Given the description of an element on the screen output the (x, y) to click on. 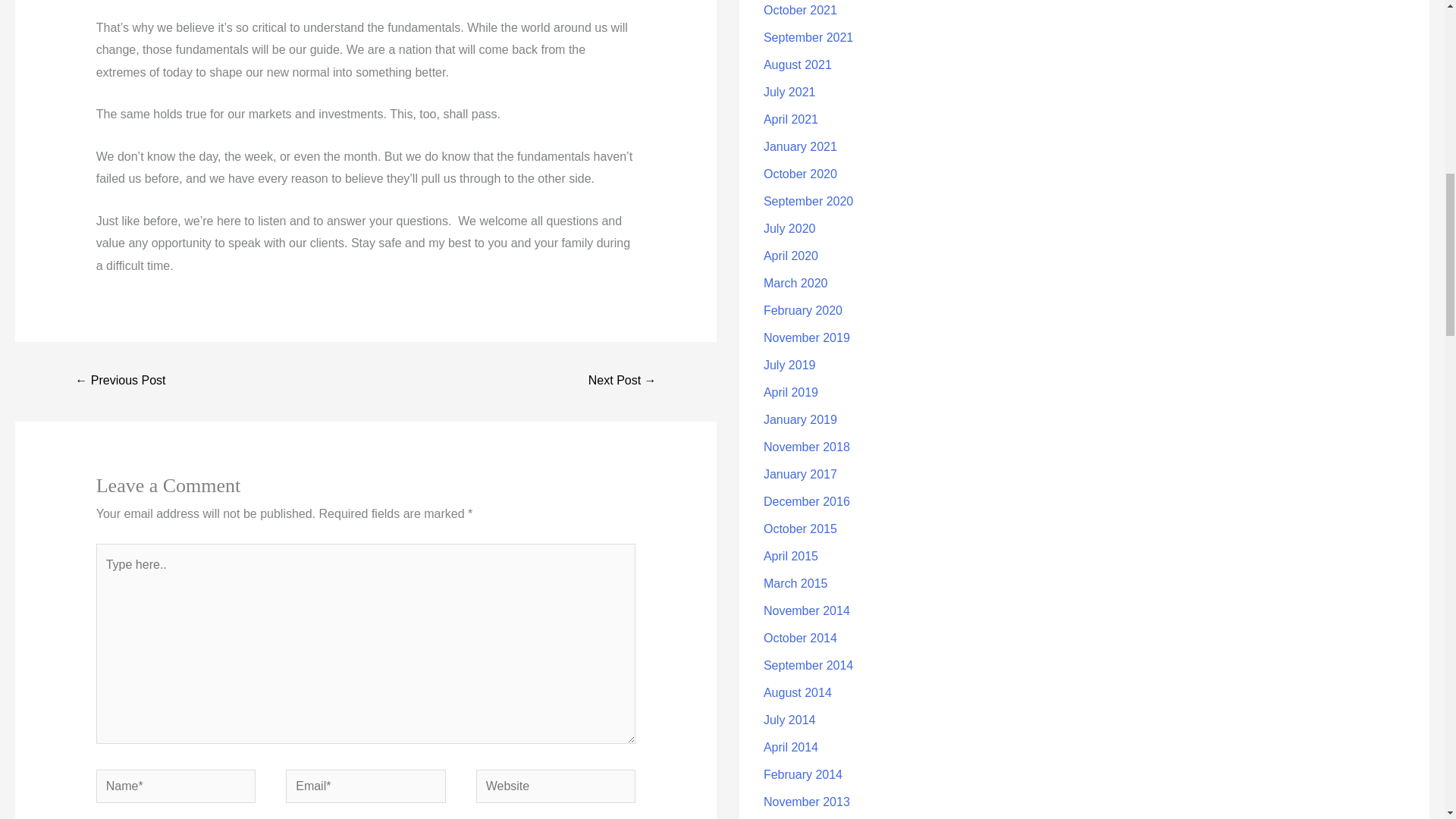
We're Here to Help (119, 381)
August 2021 (796, 64)
September 2021 (807, 37)
October 2021 (799, 10)
April 2021 (790, 119)
July 2021 (788, 91)
Don't Overreact to the Movements (622, 381)
